Given the description of an element on the screen output the (x, y) to click on. 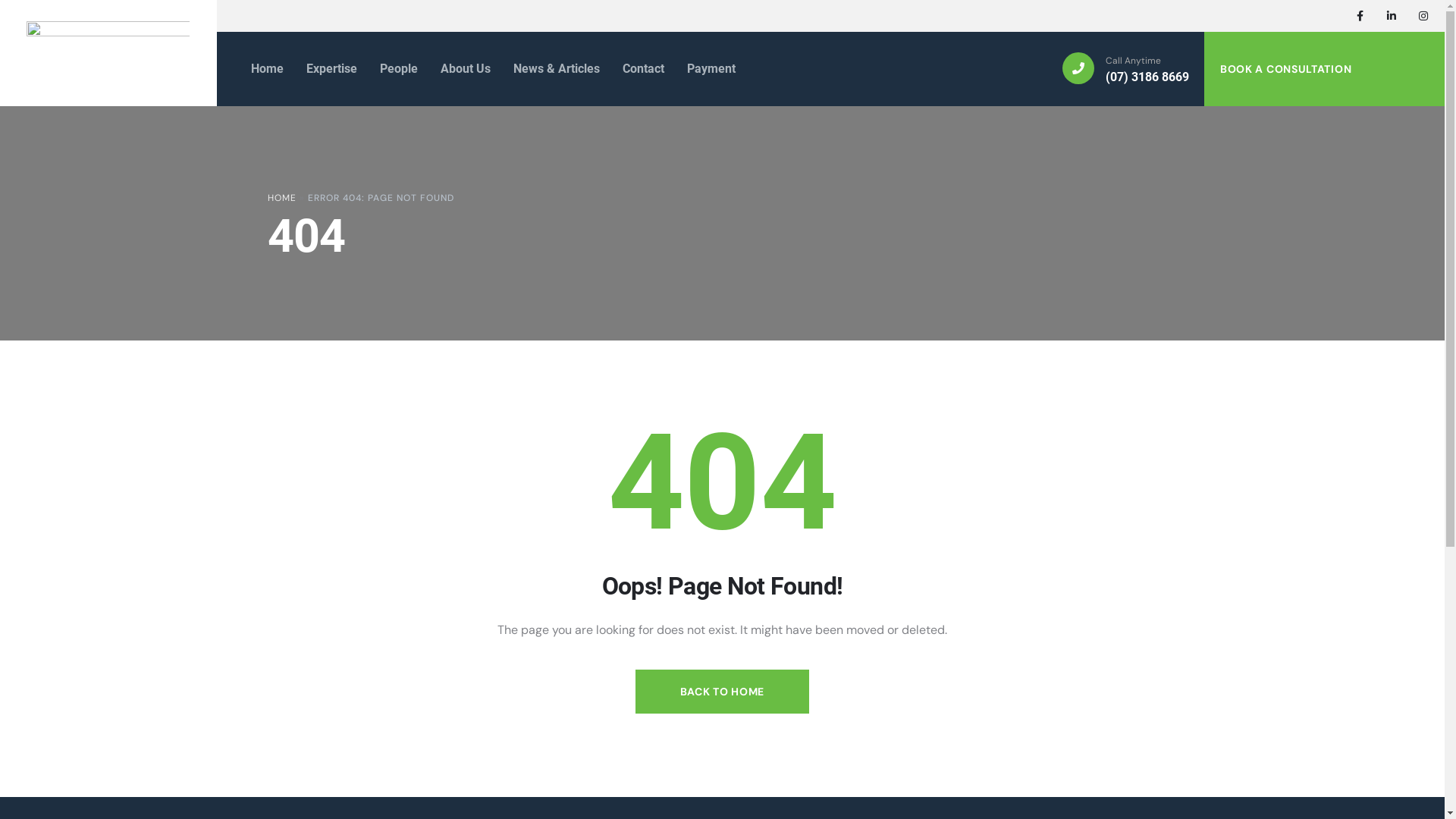
HOME Element type: text (280, 197)
BOOK A CONSULTATION Element type: text (1295, 68)
Payment Element type: text (703, 68)
Contact Element type: text (635, 68)
People Element type: text (390, 68)
BACK TO HOME Element type: text (722, 691)
News & Articles Element type: text (548, 68)
Home Element type: text (259, 68)
About Us Element type: text (457, 68)
Expertise Element type: text (323, 68)
